Given the description of an element on the screen output the (x, y) to click on. 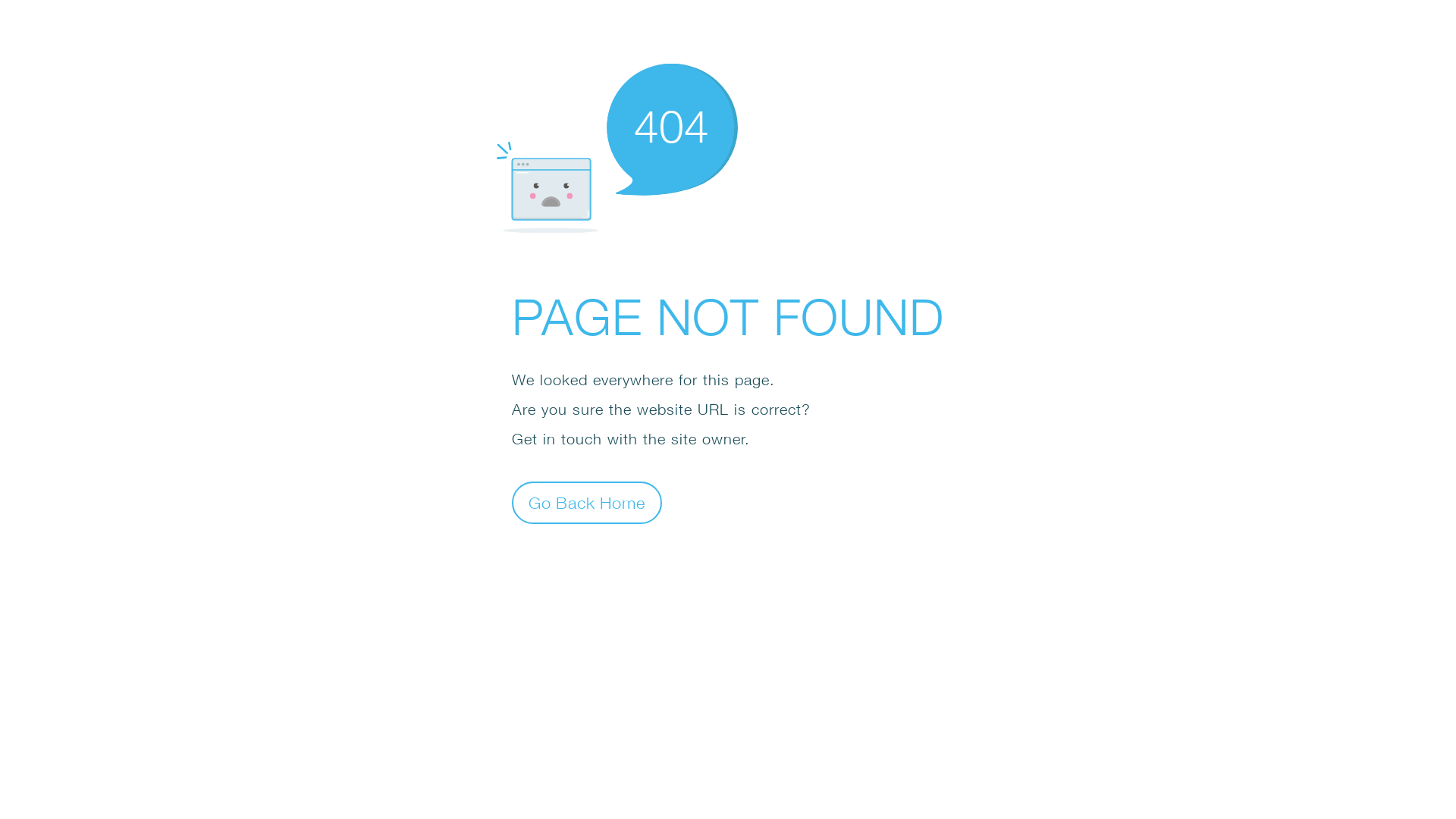
Go Back Home Element type: text (586, 502)
